Given the description of an element on the screen output the (x, y) to click on. 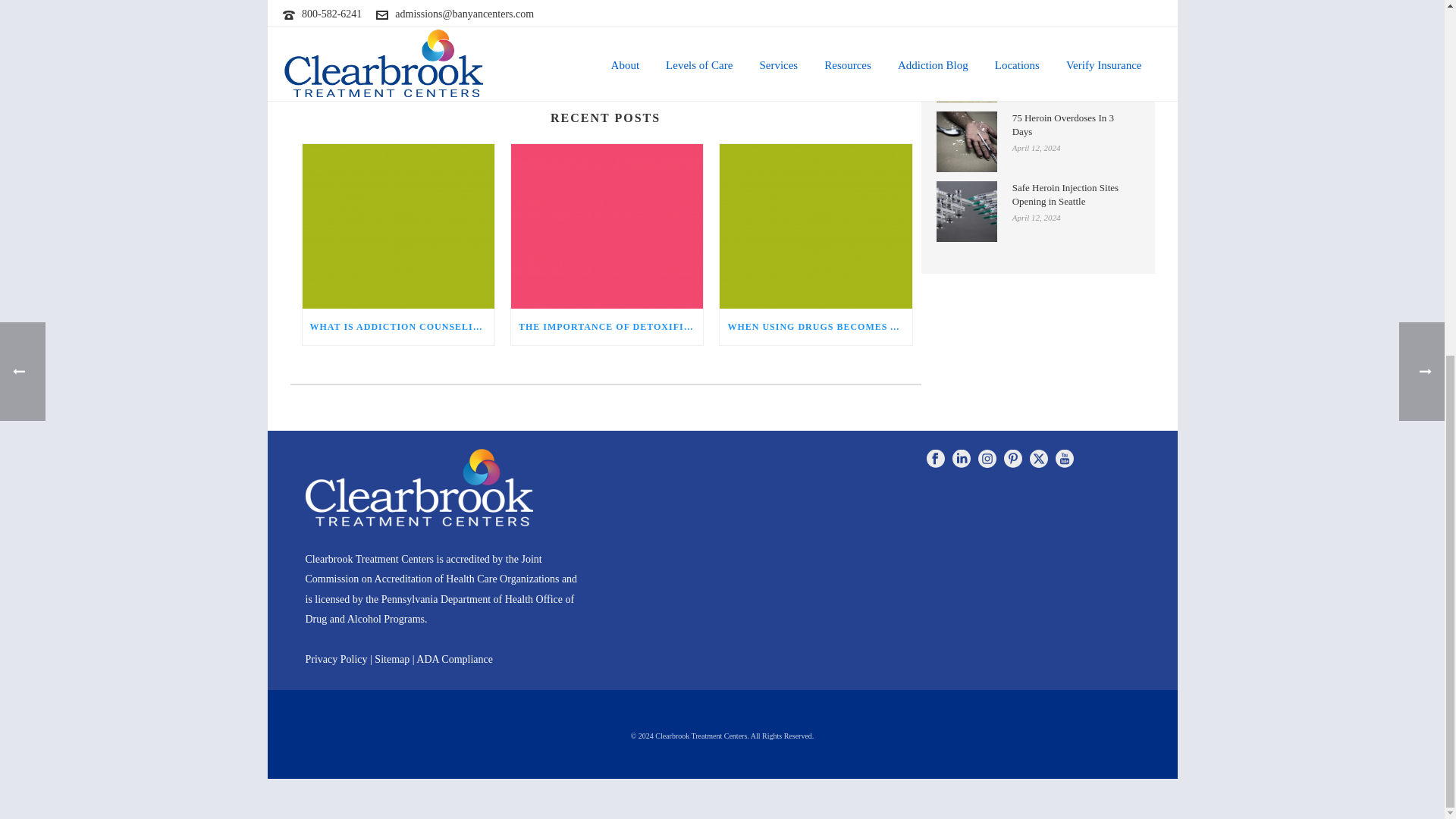
 pinterest (1013, 459)
Celebrating the 4th of July With Clearbrook (966, 71)
What is Addiction Counseling? (397, 226)
Get in touch with me via email (359, 50)
75 Heroin Overdoses In 3 Days (966, 141)
Detox at Clearbrook Manor (966, 16)
When Using Drugs Becomes an Addiction (815, 226)
The Importance of Detoxification for Drug Rehabilitation (607, 226)
Safe Heroin Injection Sites Opening in Seattle (966, 210)
